Given the description of an element on the screen output the (x, y) to click on. 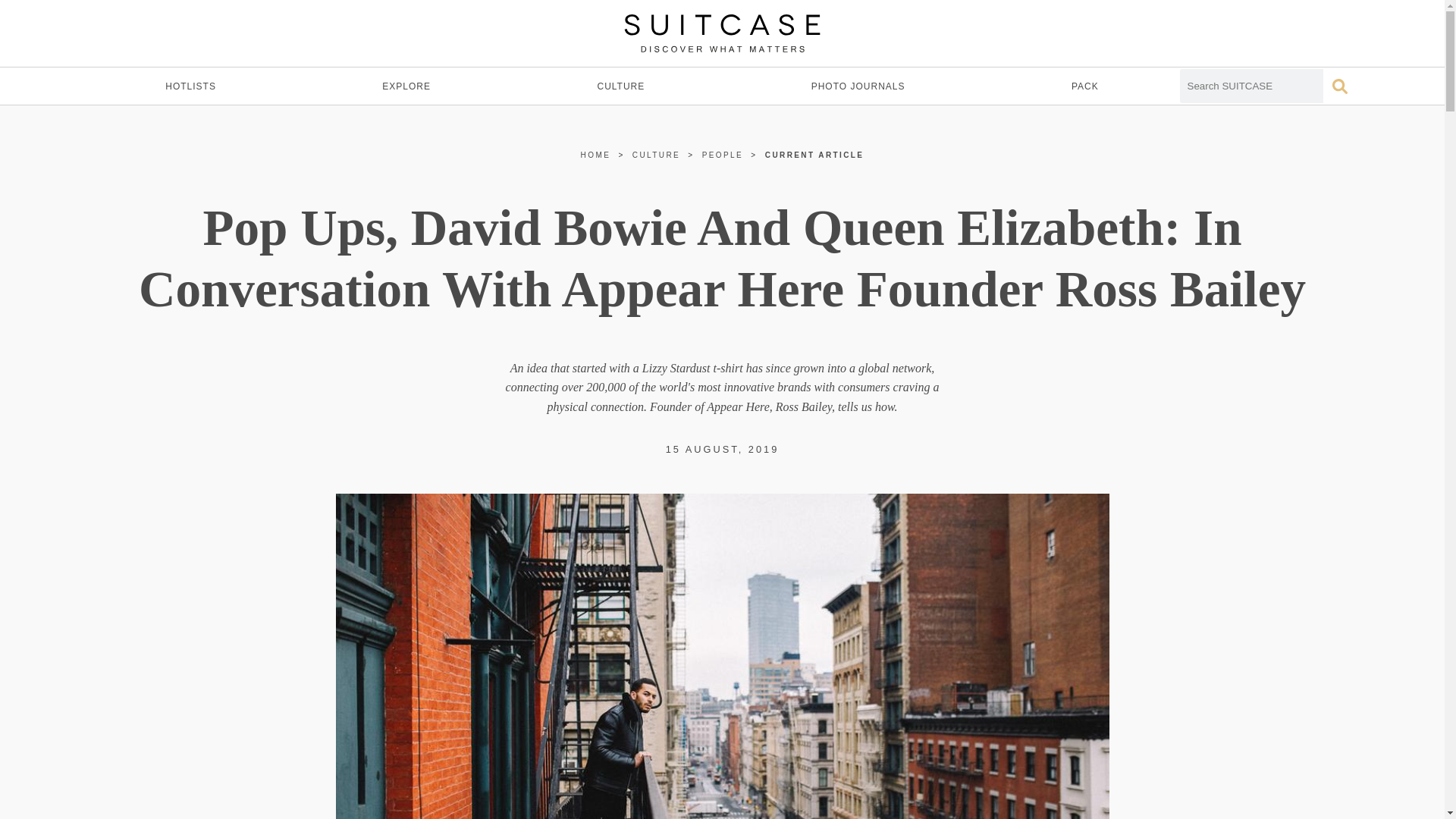
HOME (595, 154)
CURRENT ARTICLE (814, 154)
PEOPLE (721, 154)
PACK (1085, 85)
CULTURE (619, 85)
HOTLISTS (190, 85)
EXPLORE (405, 85)
CULTURE (655, 154)
PHOTO JOURNALS (858, 85)
